Given the description of an element on the screen output the (x, y) to click on. 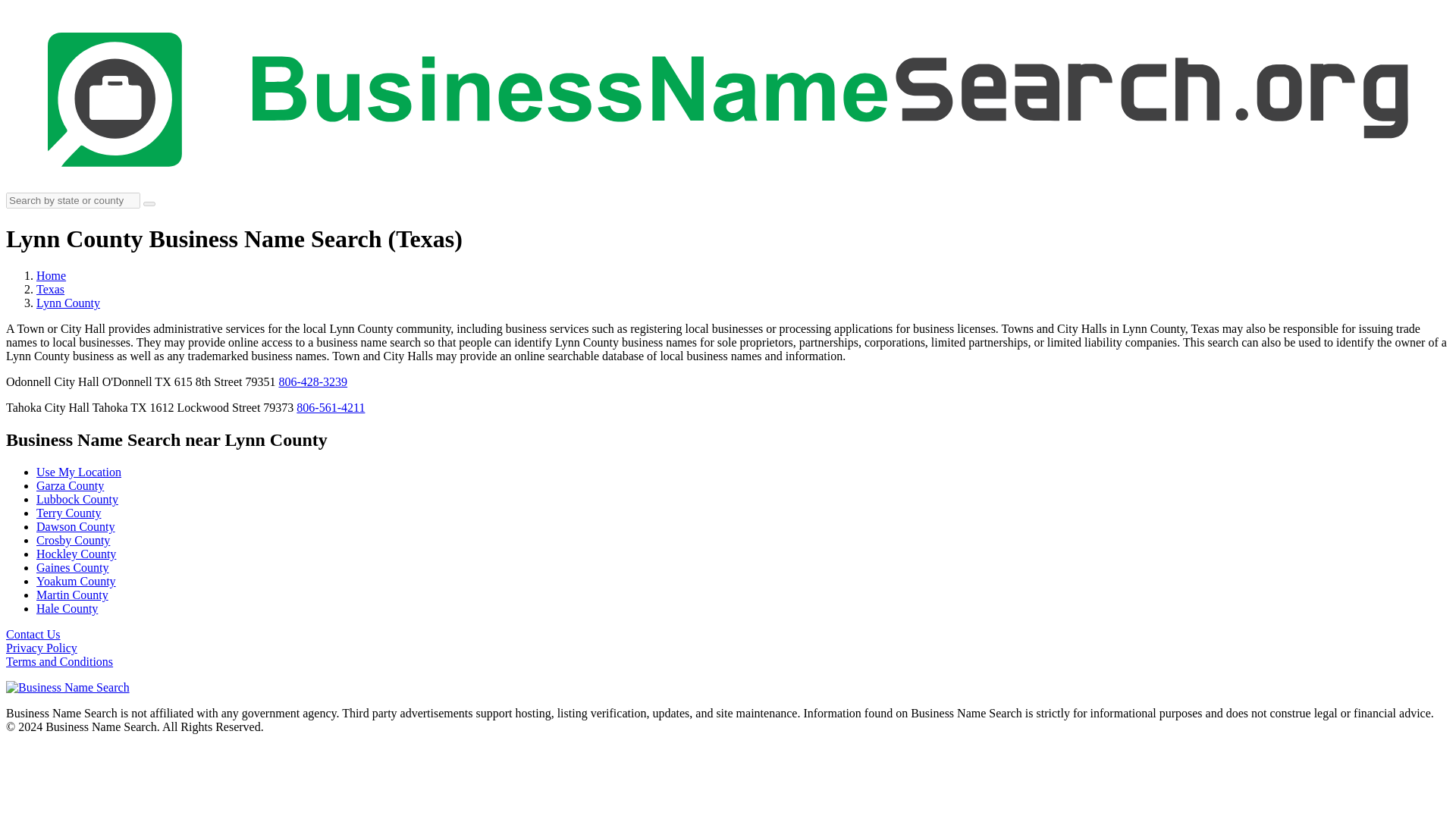
Texas (50, 288)
Business Name Search Near Me (78, 472)
Dawson County (75, 526)
806-428-3239 (312, 381)
Crosby County (73, 540)
Lubbock County (76, 499)
806-561-4211 (331, 407)
Texas Business Name Search (50, 288)
Home (50, 275)
Hale County (66, 608)
